Given the description of an element on the screen output the (x, y) to click on. 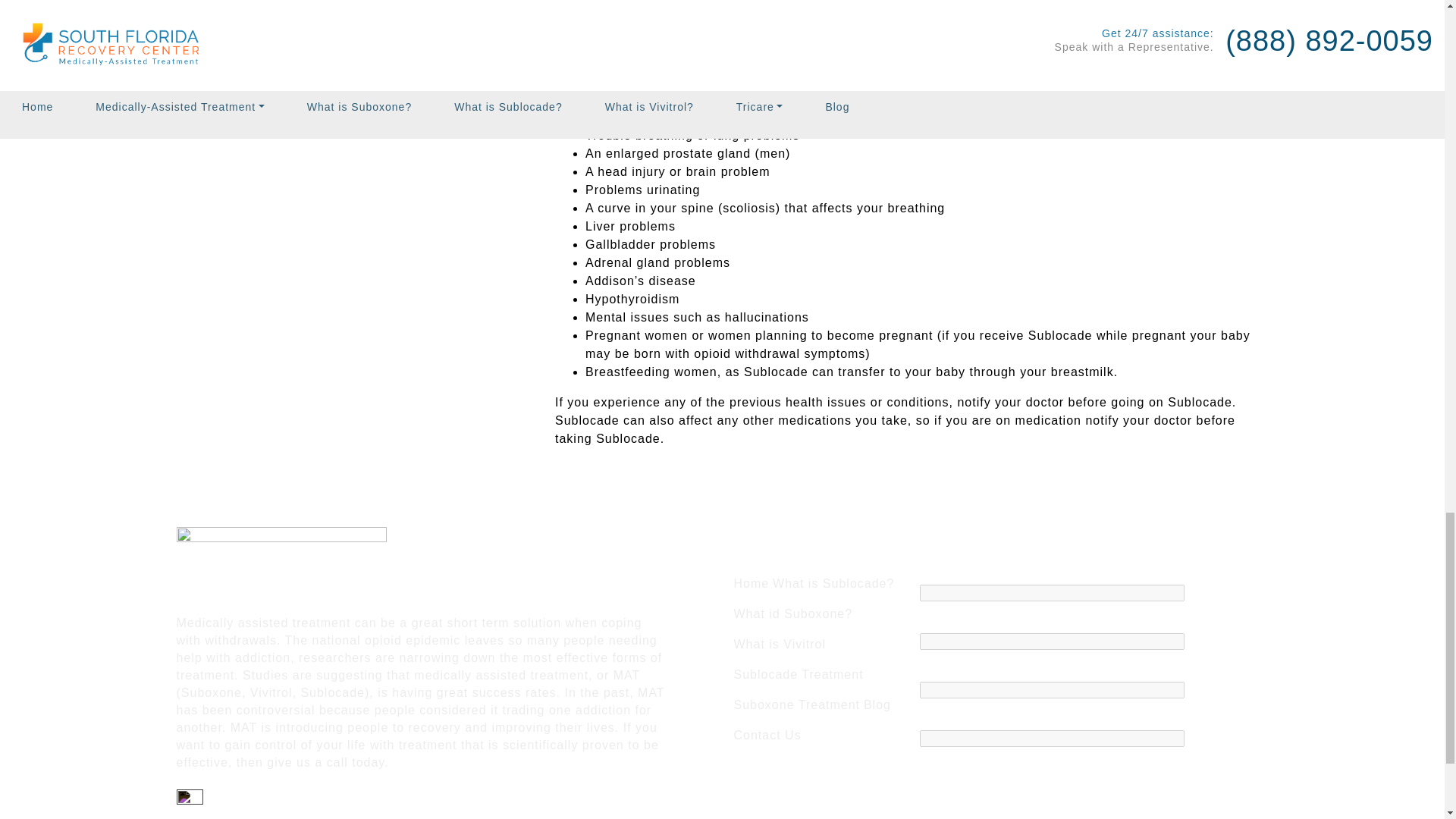
Home (751, 583)
What is Sublocade? (833, 583)
